Given the description of an element on the screen output the (x, y) to click on. 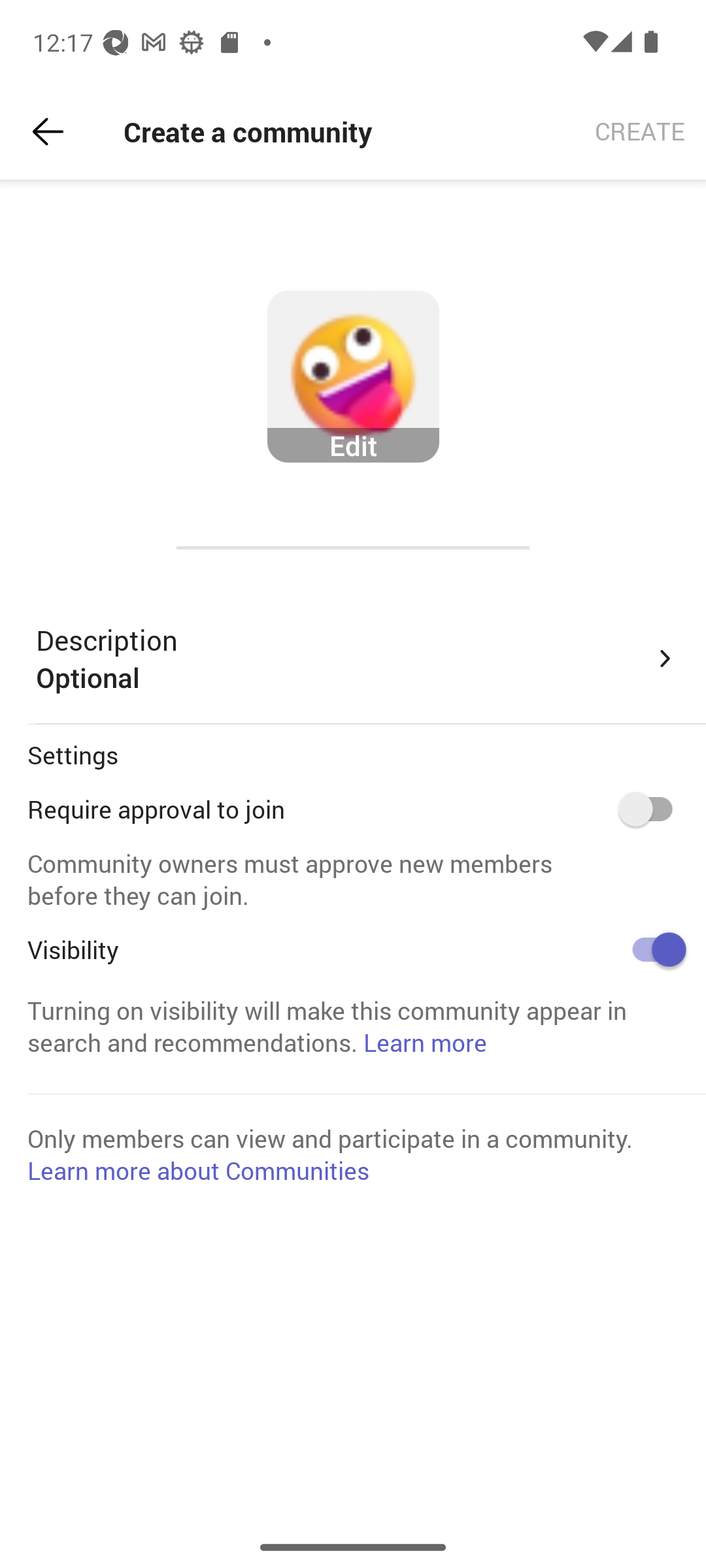
Back (48, 131)
CREATE (639, 131)
Edit community image Edit (353, 377)
Description Optional (357, 659)
Require approval to join (652, 808)
Visibility (652, 949)
